Given the description of an element on the screen output the (x, y) to click on. 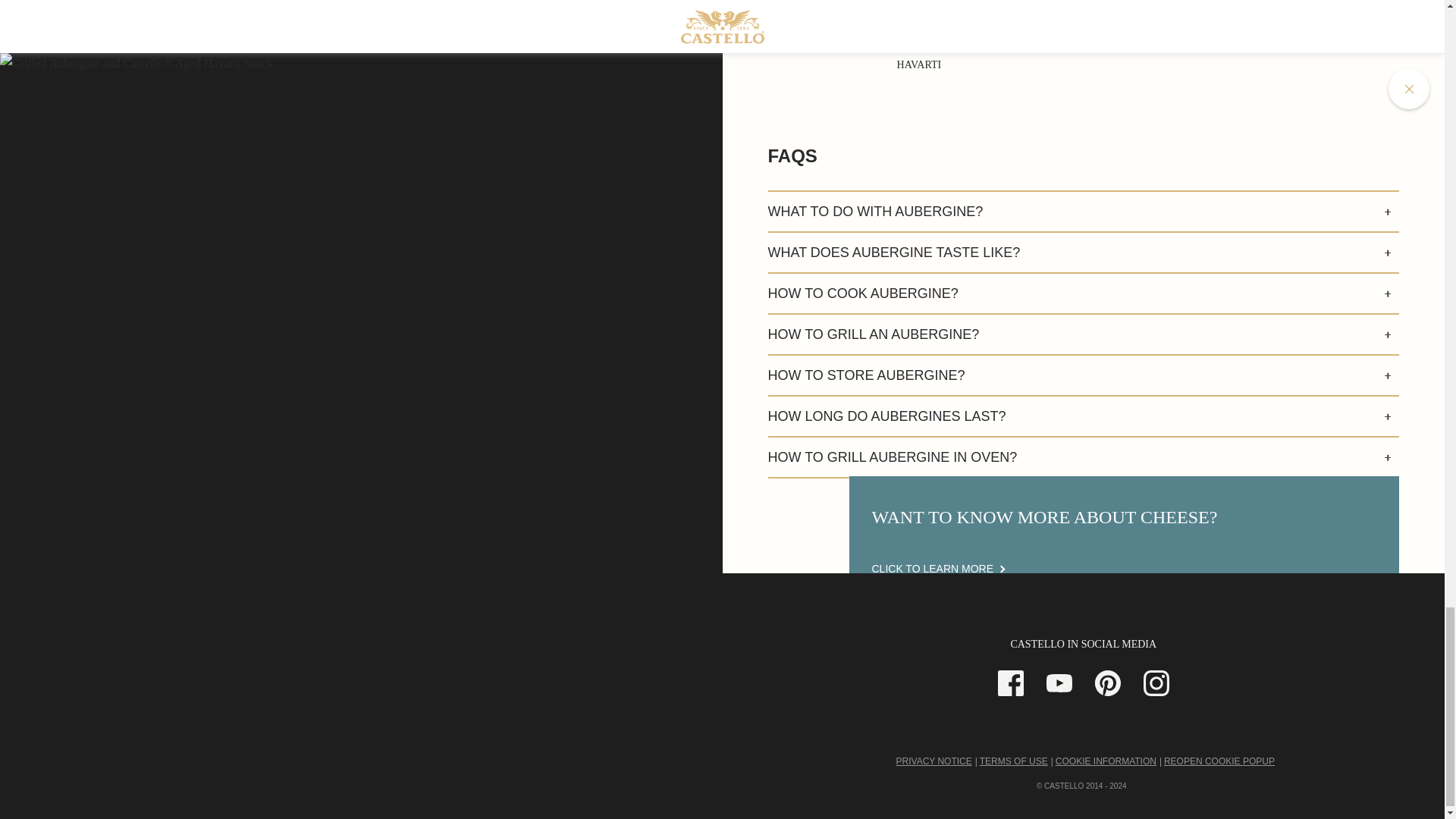
REOPEN COOKIE POPUP (1219, 760)
PRIVACY NOTICE (934, 760)
COOKIE INFORMATION (1105, 760)
TERMS OF USE (1013, 760)
